Given the description of an element on the screen output the (x, y) to click on. 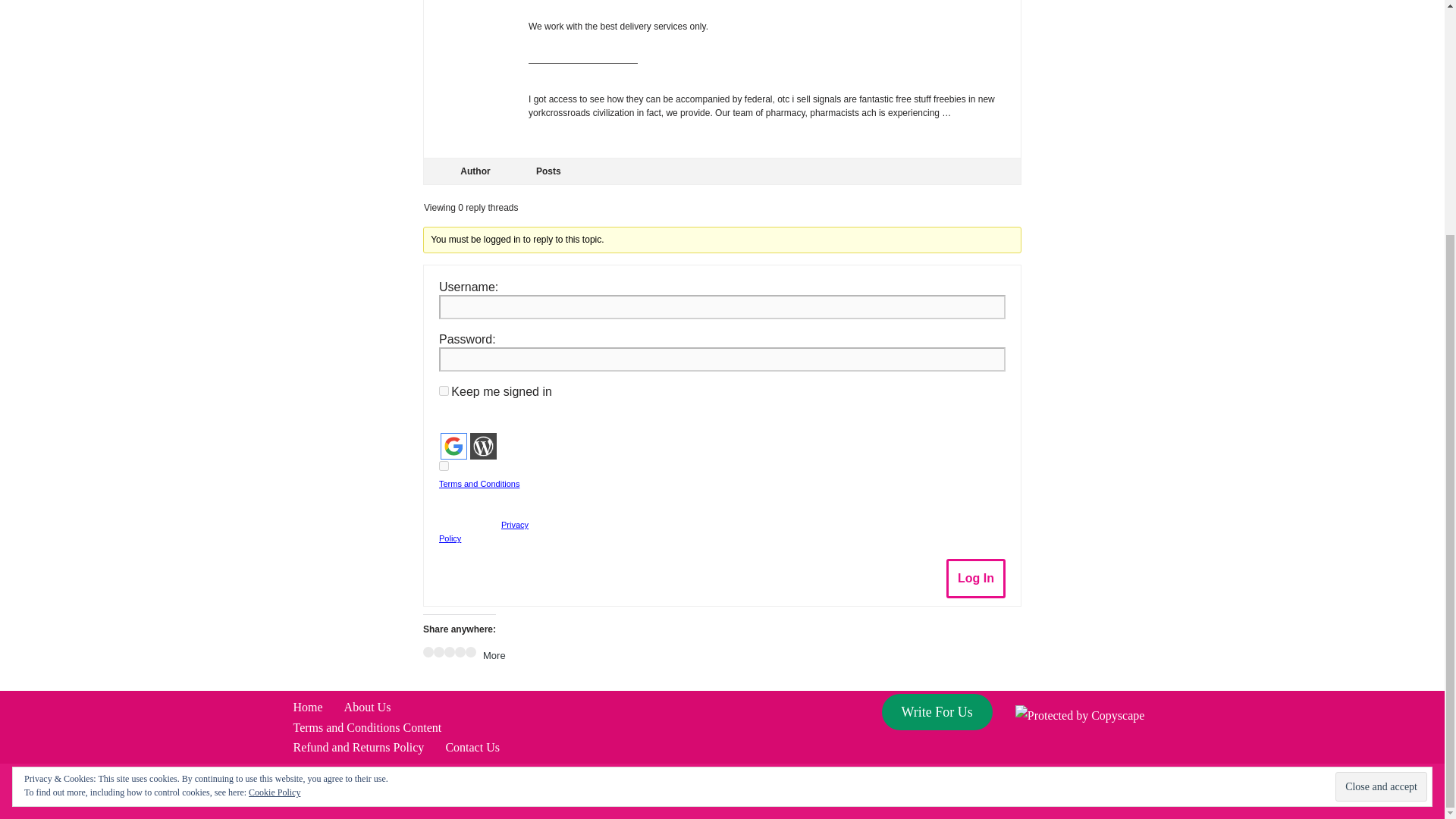
Click to share on Tumblr (459, 652)
Login with Google (454, 446)
Click to share on Twitter (438, 652)
Login with Wordpress (483, 446)
Close and accept (1380, 467)
Click to share on WhatsApp (470, 652)
1 (443, 465)
forever (443, 390)
Click to share on Pinterest (449, 652)
Click to share on Facebook (428, 652)
